Given the description of an element on the screen output the (x, y) to click on. 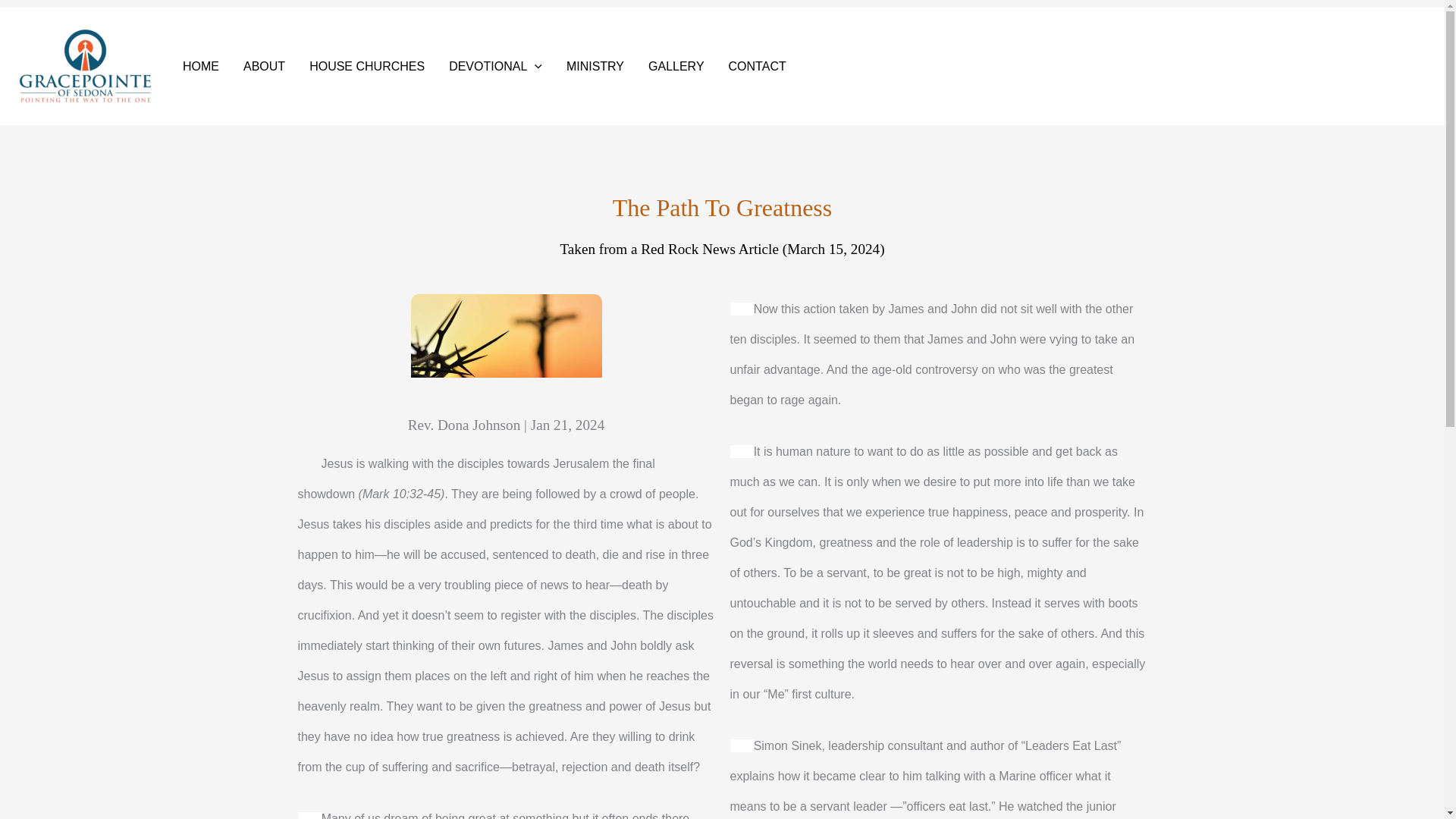
ABOUT (264, 66)
GALLERY (676, 66)
MINISTRY (595, 66)
DEVOTIONAL (495, 66)
HOUSE CHURCHES (366, 66)
CONTACT (756, 66)
HOME (200, 66)
